Given the description of an element on the screen output the (x, y) to click on. 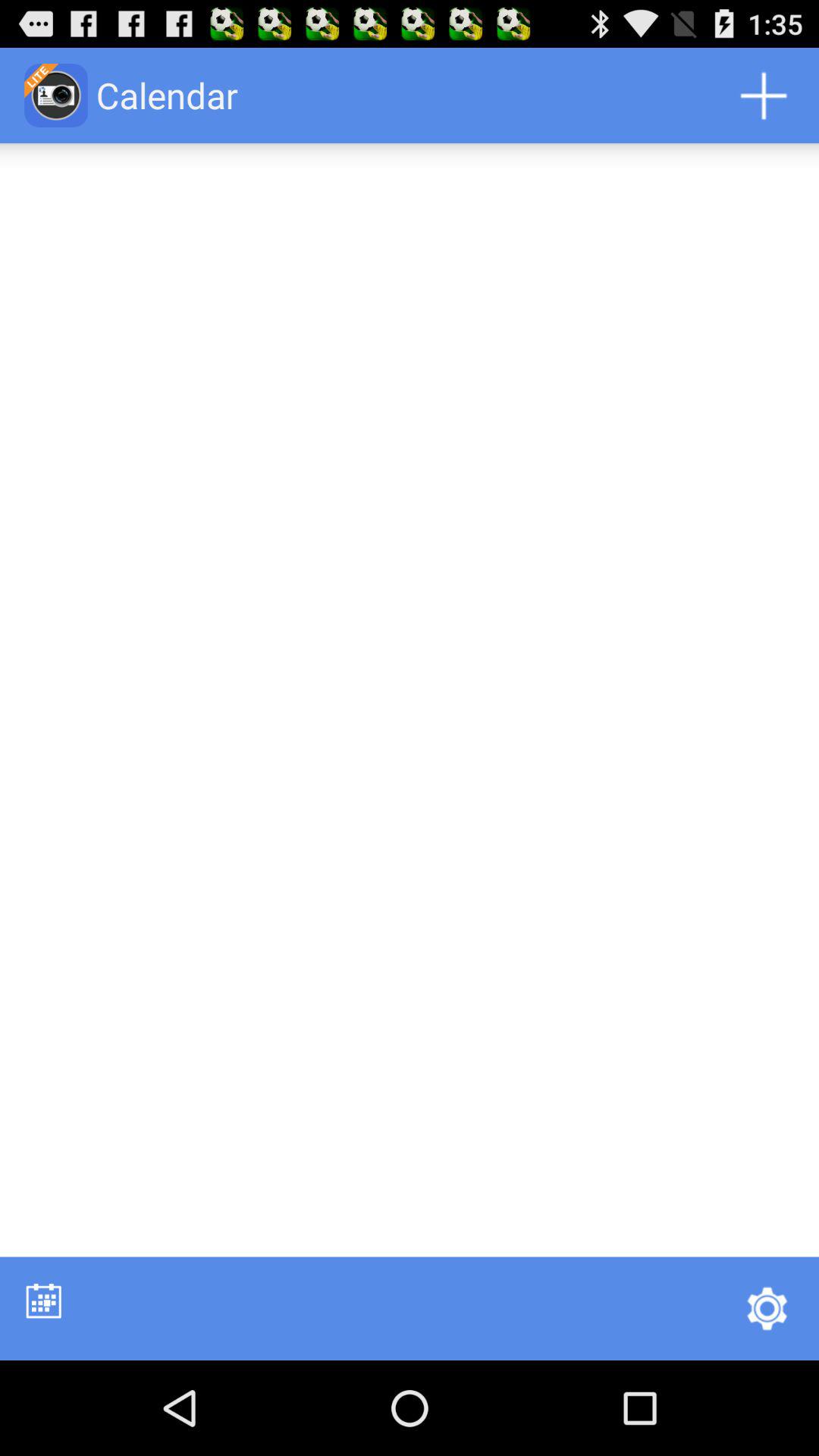
press icon at the bottom right corner (767, 1308)
